Given the description of an element on the screen output the (x, y) to click on. 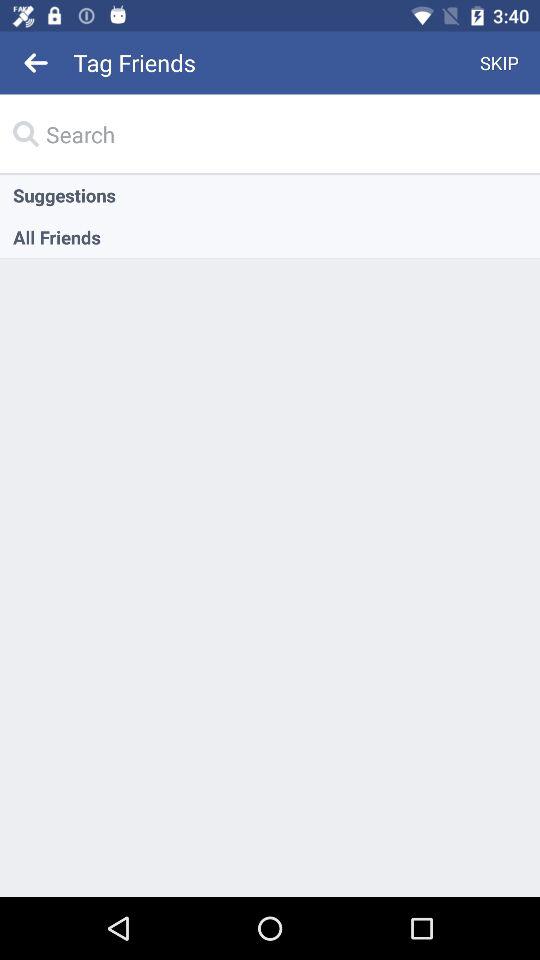
turn on icon next to tag friends item (499, 62)
